Given the description of an element on the screen output the (x, y) to click on. 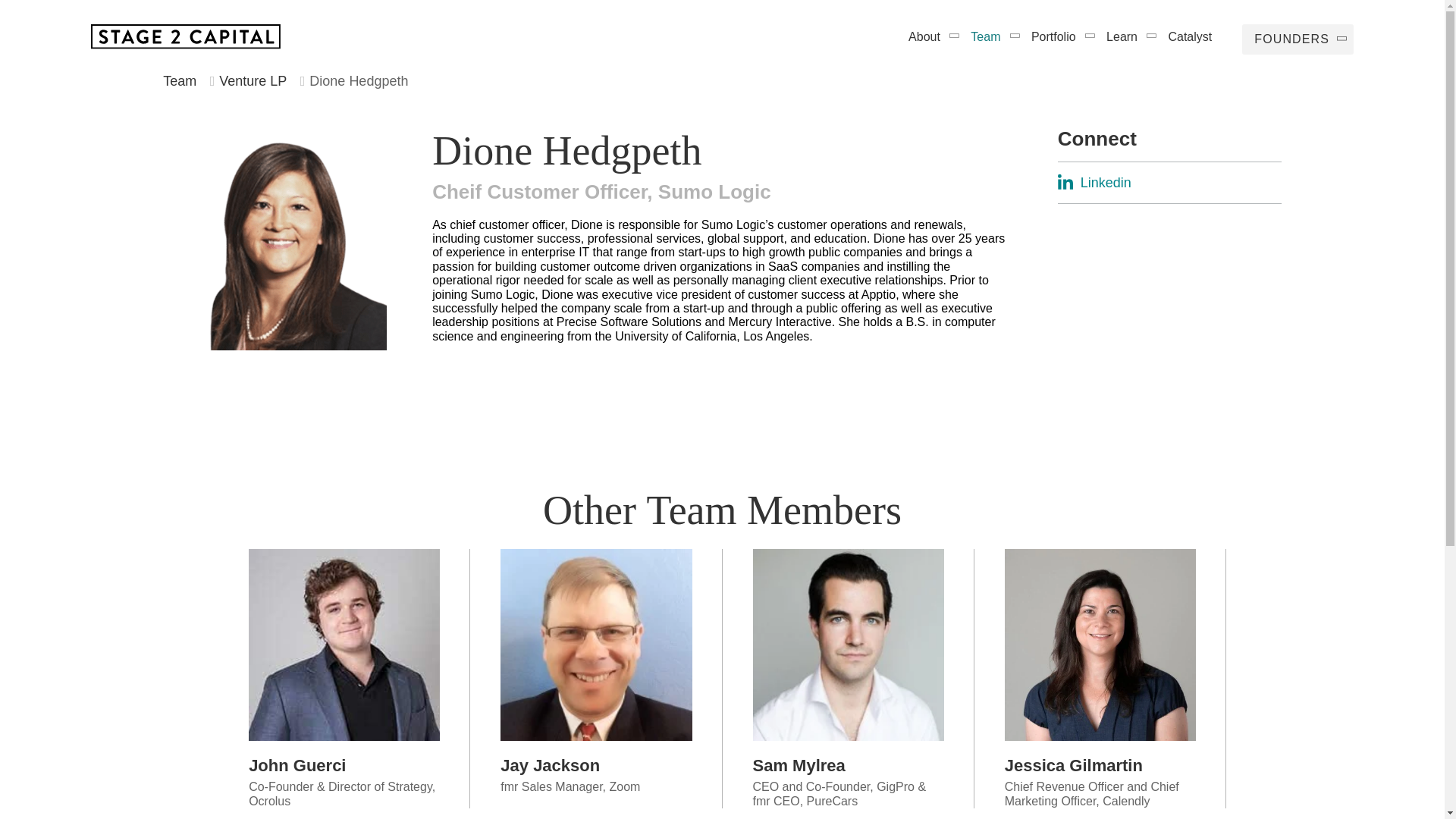
About (926, 36)
Portfolio (1056, 36)
Venture LP (252, 80)
Catalyst (1189, 36)
Learn (1123, 36)
Linkedin (1169, 182)
FOUNDERS (1297, 39)
Team (987, 36)
Team (179, 80)
